Given the description of an element on the screen output the (x, y) to click on. 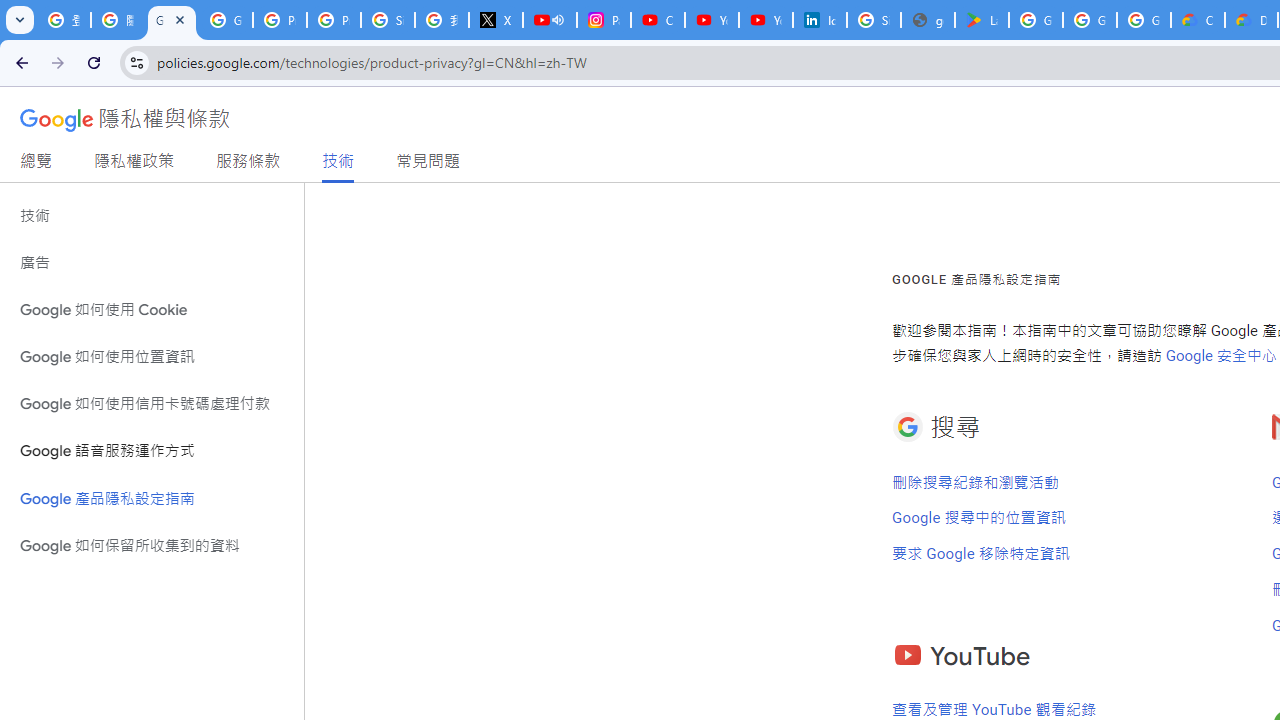
Privacy Help Center - Policies Help (333, 20)
YouTube Culture & Trends - YouTube Top 10, 2021 (765, 20)
